Given the description of an element on the screen output the (x, y) to click on. 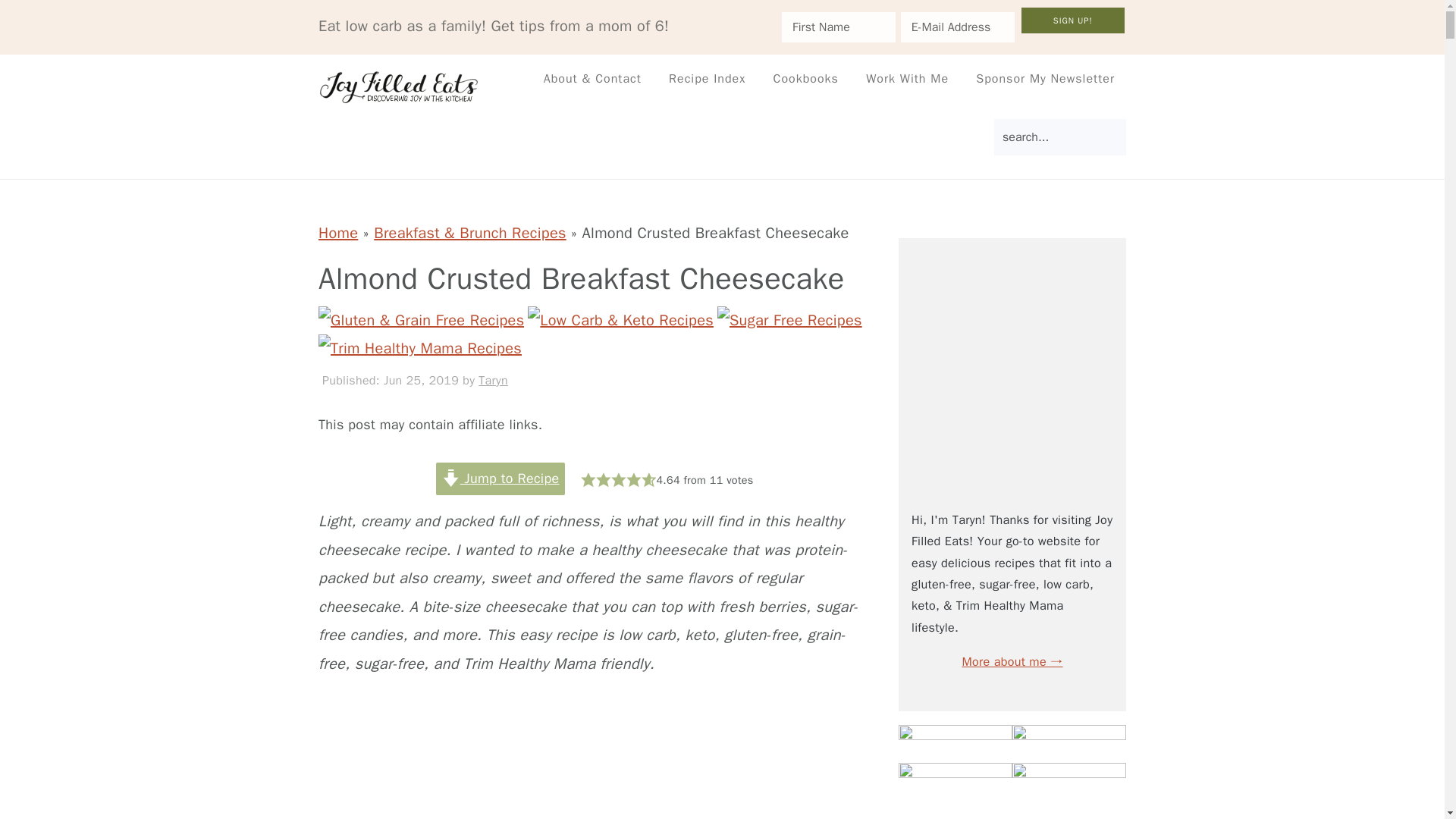
Joy Filled Eats (399, 96)
Sign Up! (1073, 20)
Joy Filled Eats (399, 86)
Recipe Index (707, 79)
Sign Up! (1073, 20)
